Given the description of an element on the screen output the (x, y) to click on. 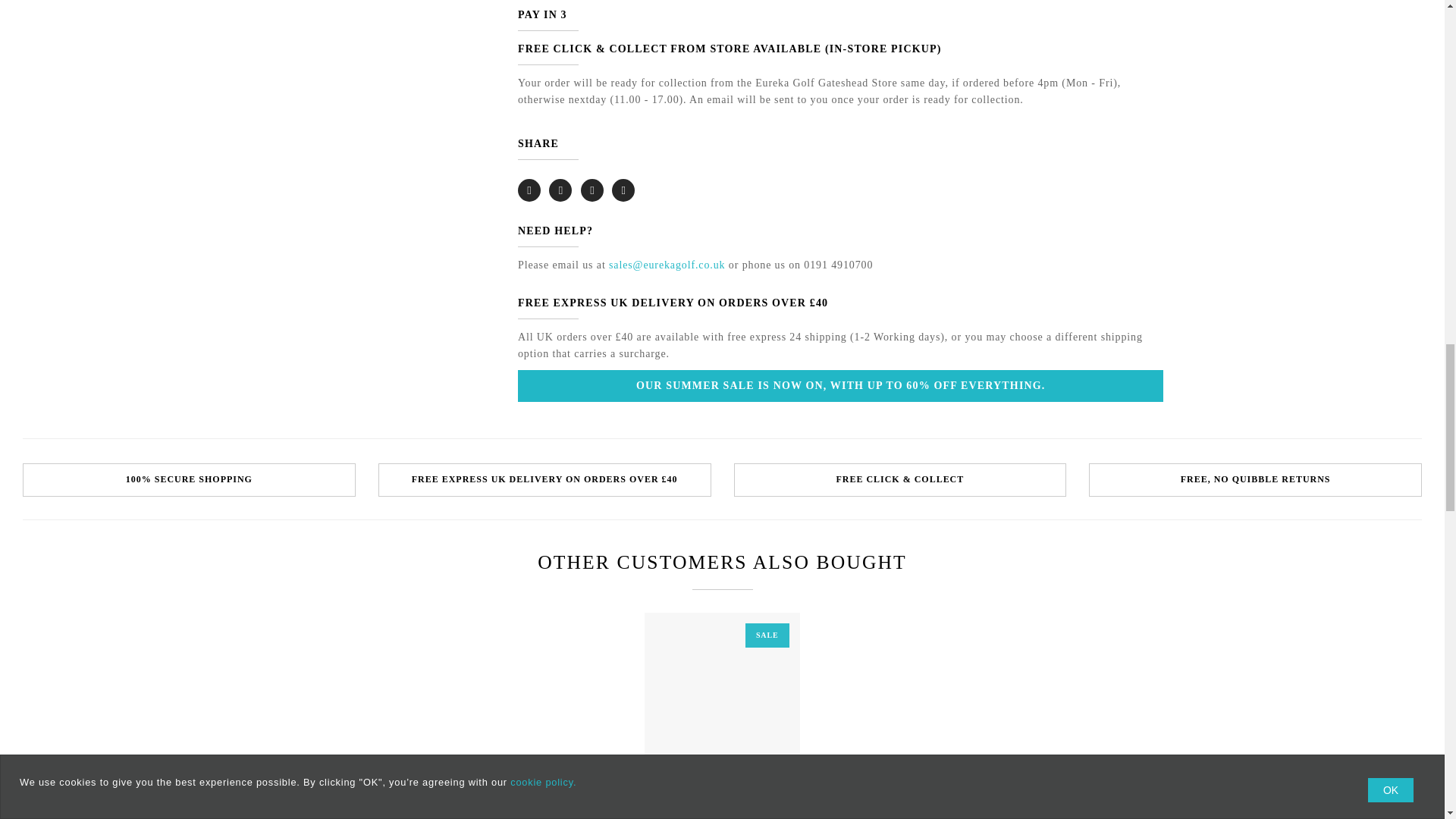
Share with Twitter (529, 190)
Share with Google Plus (592, 190)
Share with Facebook (560, 190)
Share with Pinterest (622, 190)
